Given the description of an element on the screen output the (x, y) to click on. 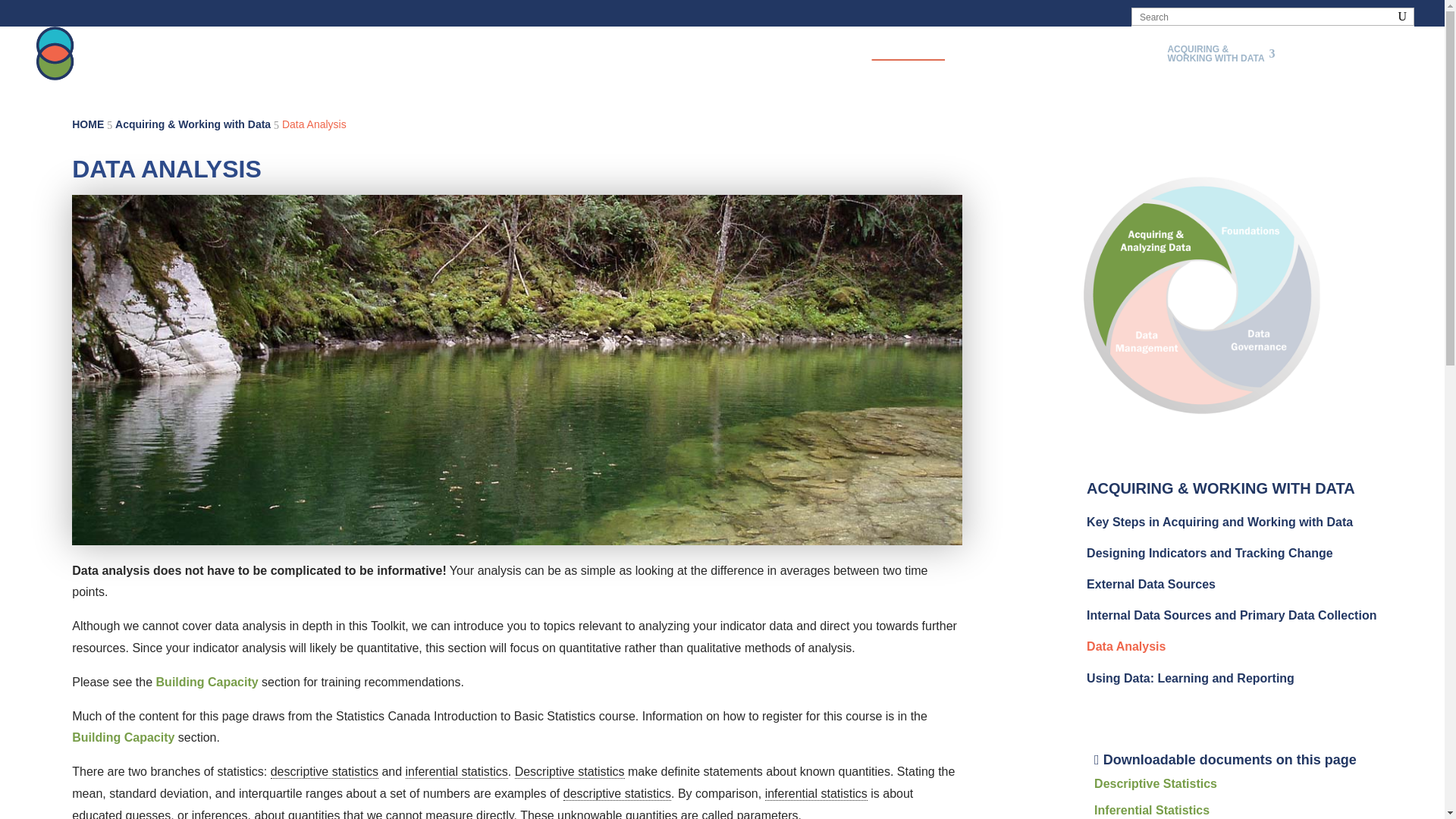
APPLIED TOOLS (914, 53)
GETTING STARTED (1013, 54)
ABOUT THIS TOOLKIT (1109, 54)
